Given the description of an element on the screen output the (x, y) to click on. 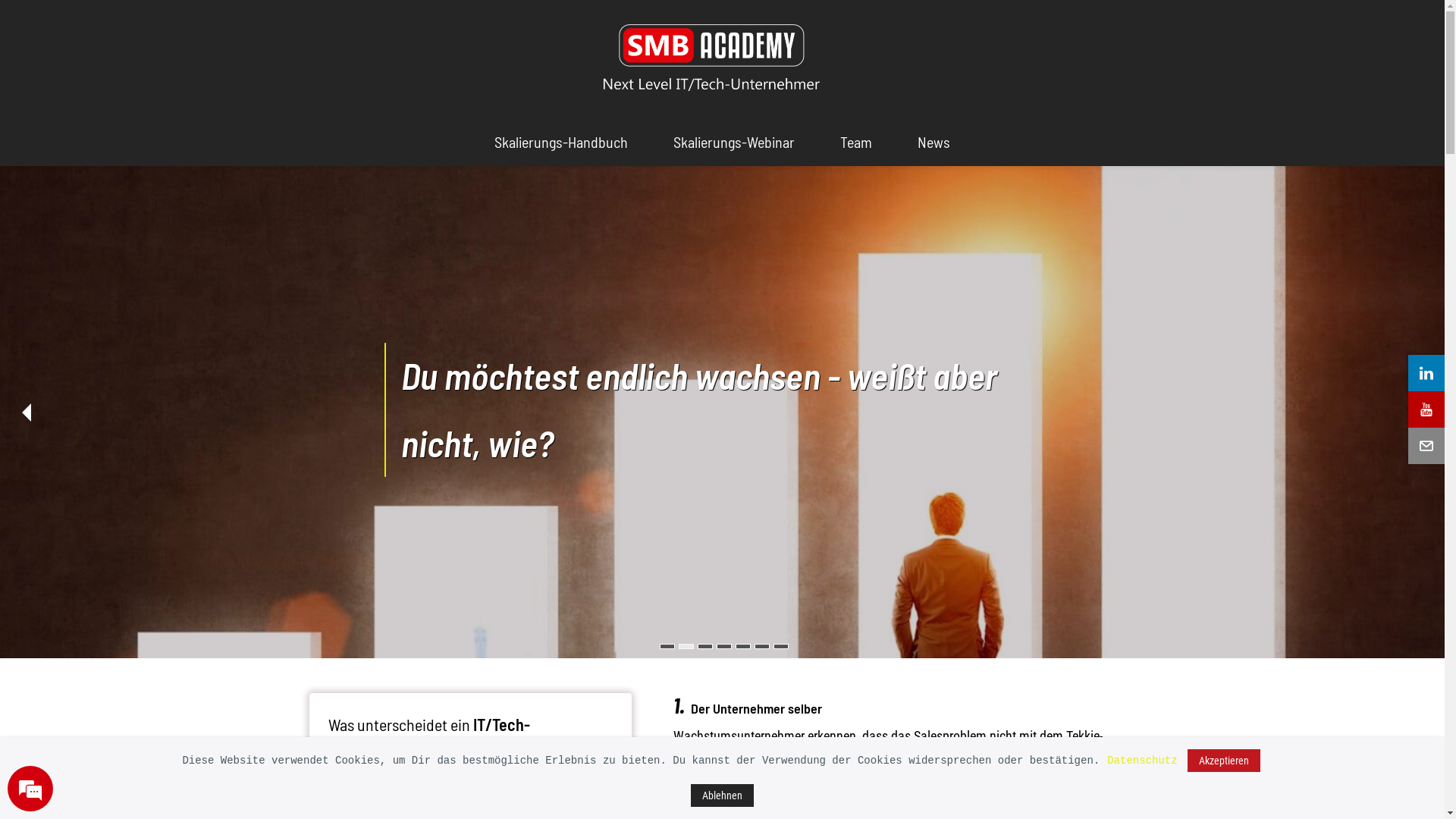
Skalierungs-Handbuch Element type: text (560, 141)
Akzeptieren Element type: text (1223, 760)
News Element type: text (933, 141)
Datenschutz Element type: text (1141, 760)
Team Element type: text (856, 141)
Ablehnen Element type: text (721, 795)
Skalierungs-Webinar Element type: text (733, 141)
